Given the description of an element on the screen output the (x, y) to click on. 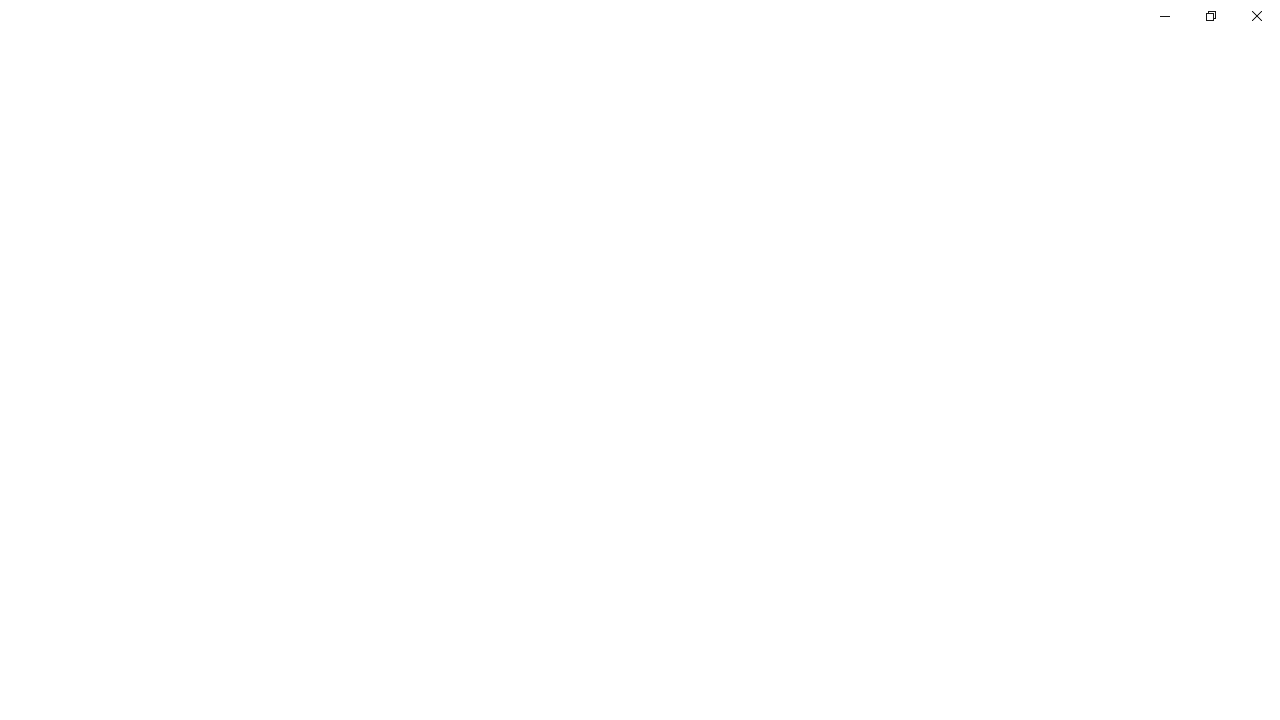
Minimize Settings (1164, 15)
Restore Settings (1210, 15)
Close Settings (1256, 15)
